Given the description of an element on the screen output the (x, y) to click on. 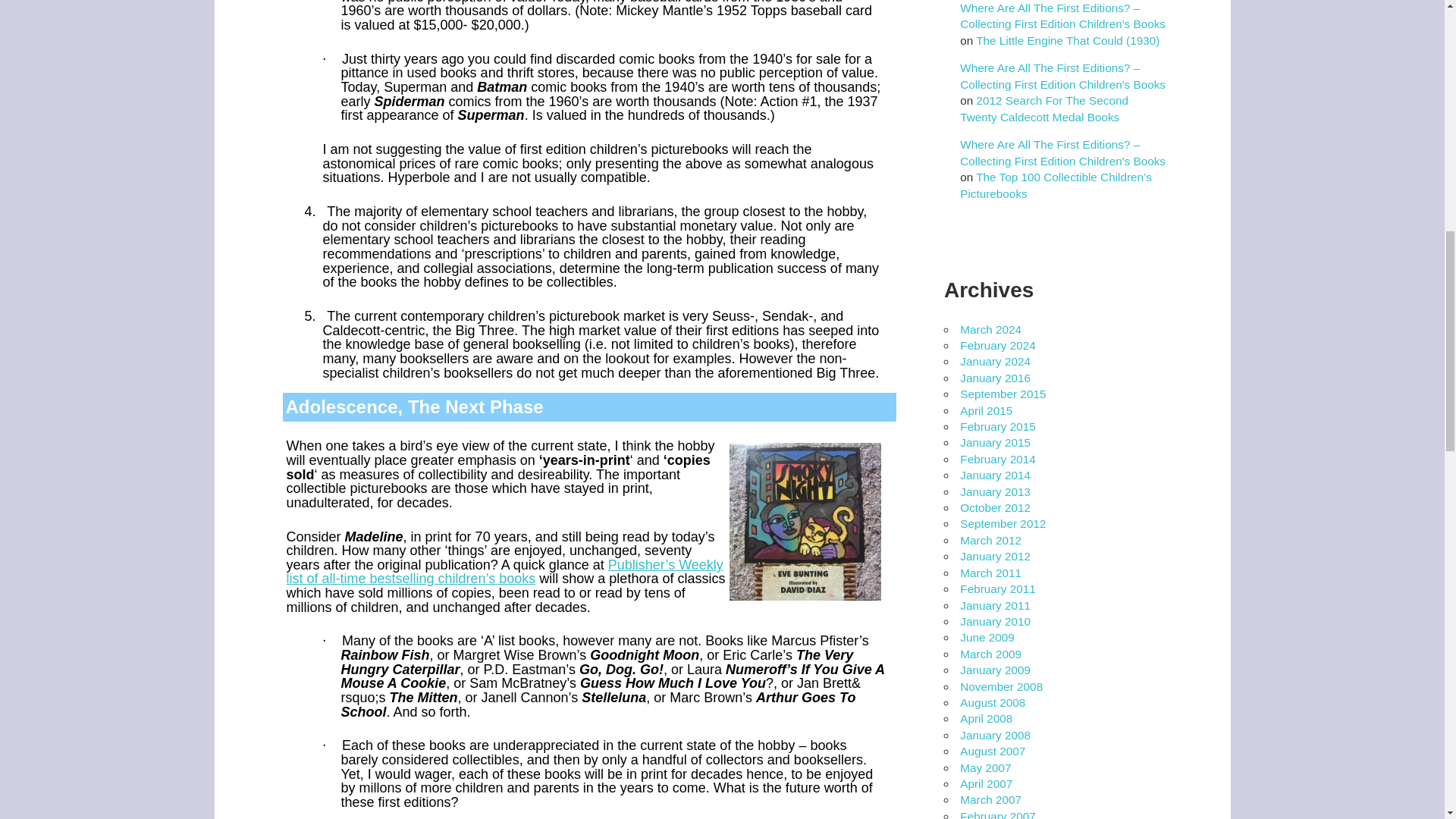
Bestselling Childrens Books (504, 572)
2012 Search For The Second Twenty Caldecott Medal Books (1043, 108)
first edition books (804, 521)
